Given the description of an element on the screen output the (x, y) to click on. 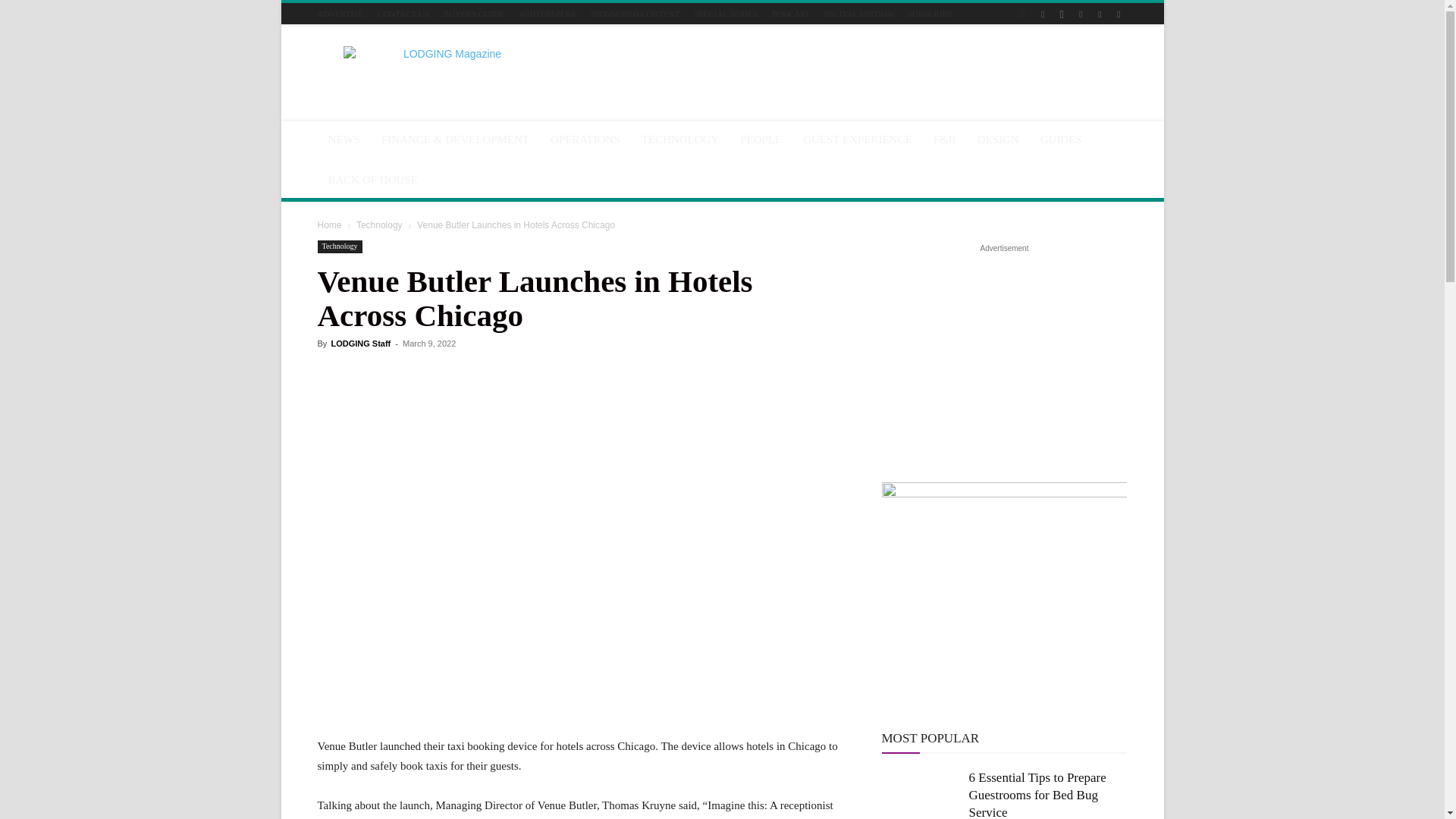
PODCAST (790, 13)
3rd party ad content (850, 79)
Search (1085, 67)
DIGITAL EDITION (858, 13)
ADVERTISE (339, 13)
SPONSORED CONTENT (634, 13)
CONTACT US (403, 13)
BUYERS GUIDE (473, 13)
SPECIAL SERIES (725, 13)
WHITEPAPERS (546, 13)
